Given the description of an element on the screen output the (x, y) to click on. 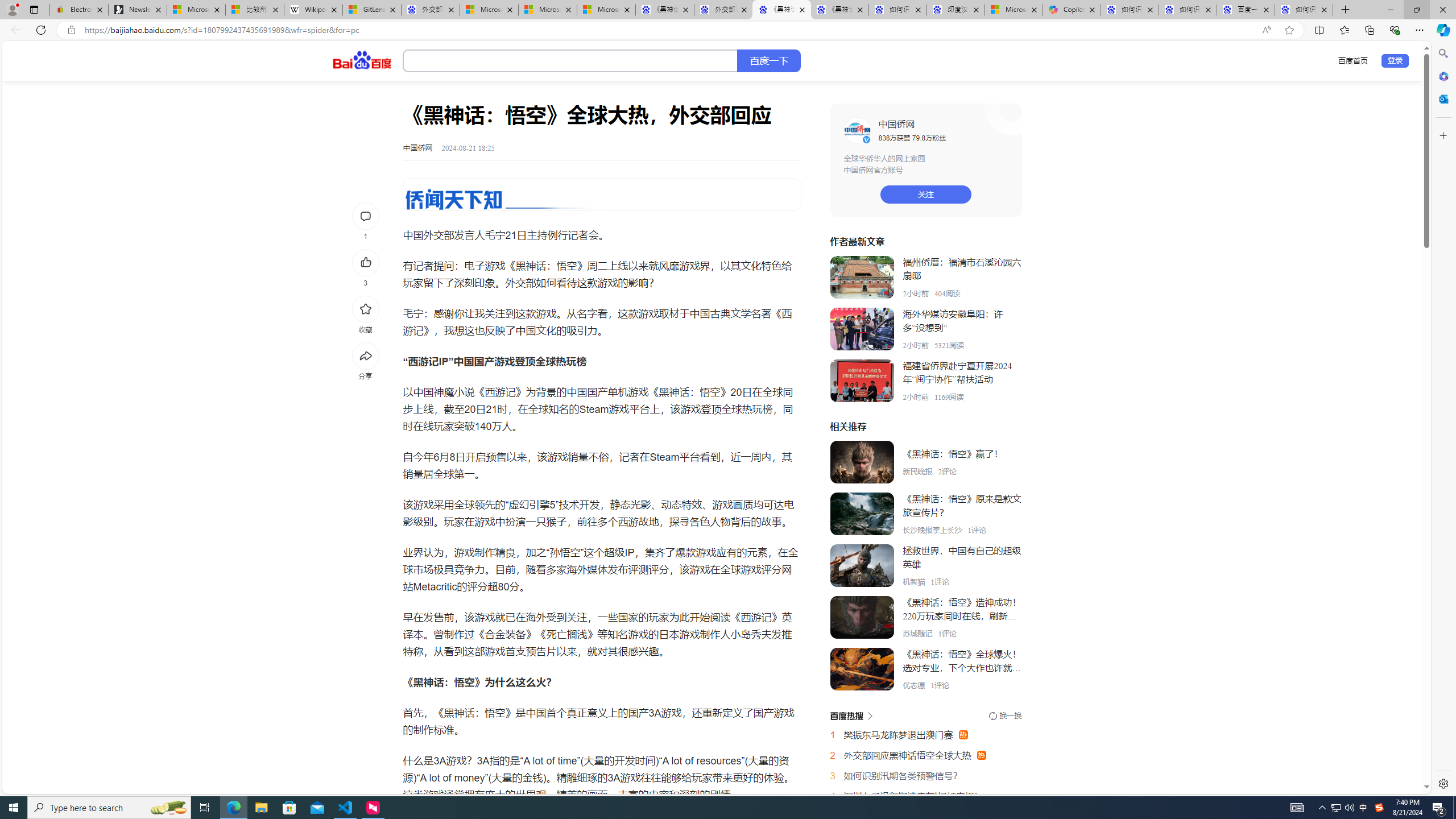
Class: _3aYo6 (861, 380)
Electronics, Cars, Fashion, Collectibles & More | eBay (79, 9)
